Given the description of an element on the screen output the (x, y) to click on. 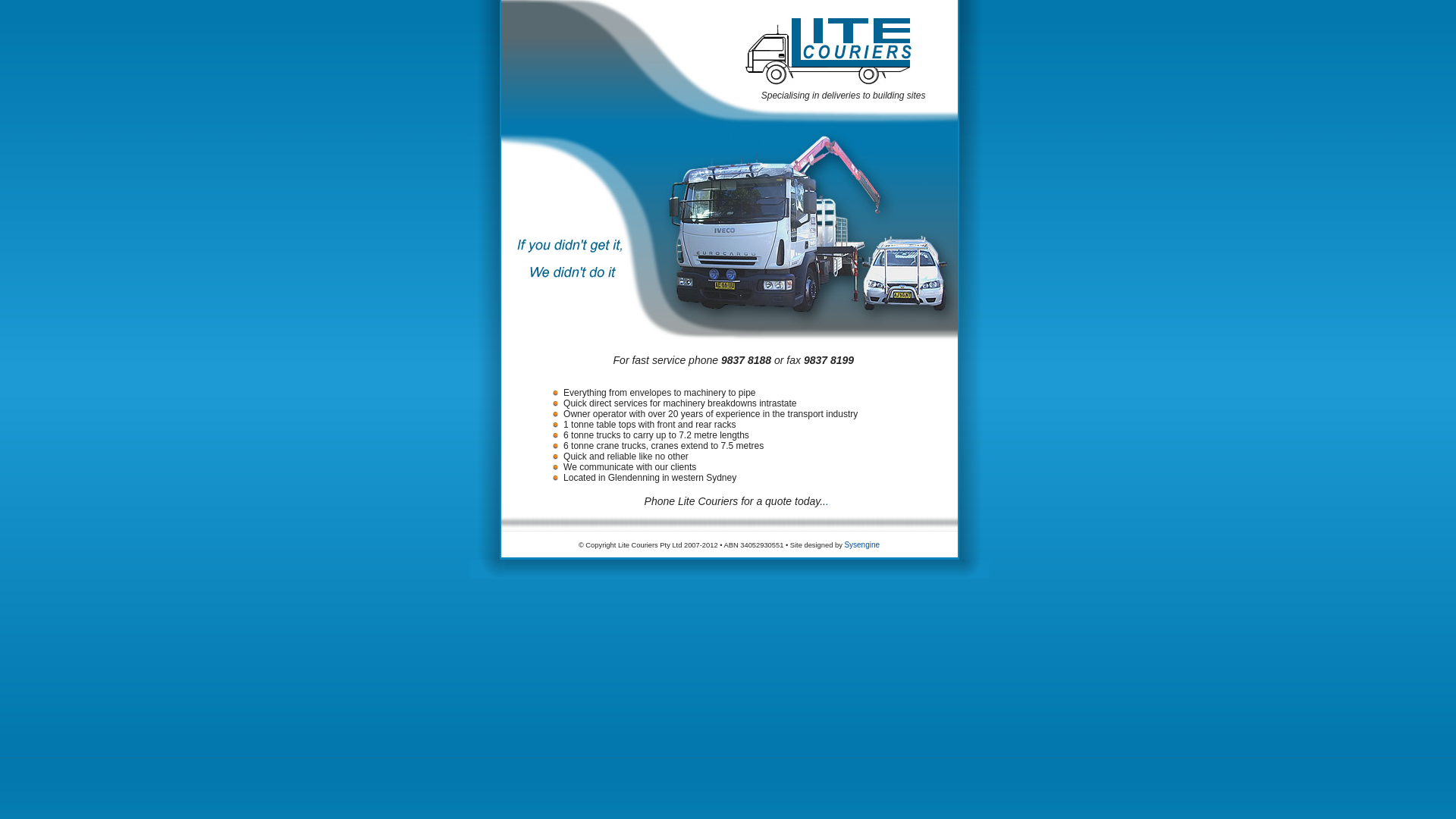
Sysengine Element type: text (861, 543)
